Given the description of an element on the screen output the (x, y) to click on. 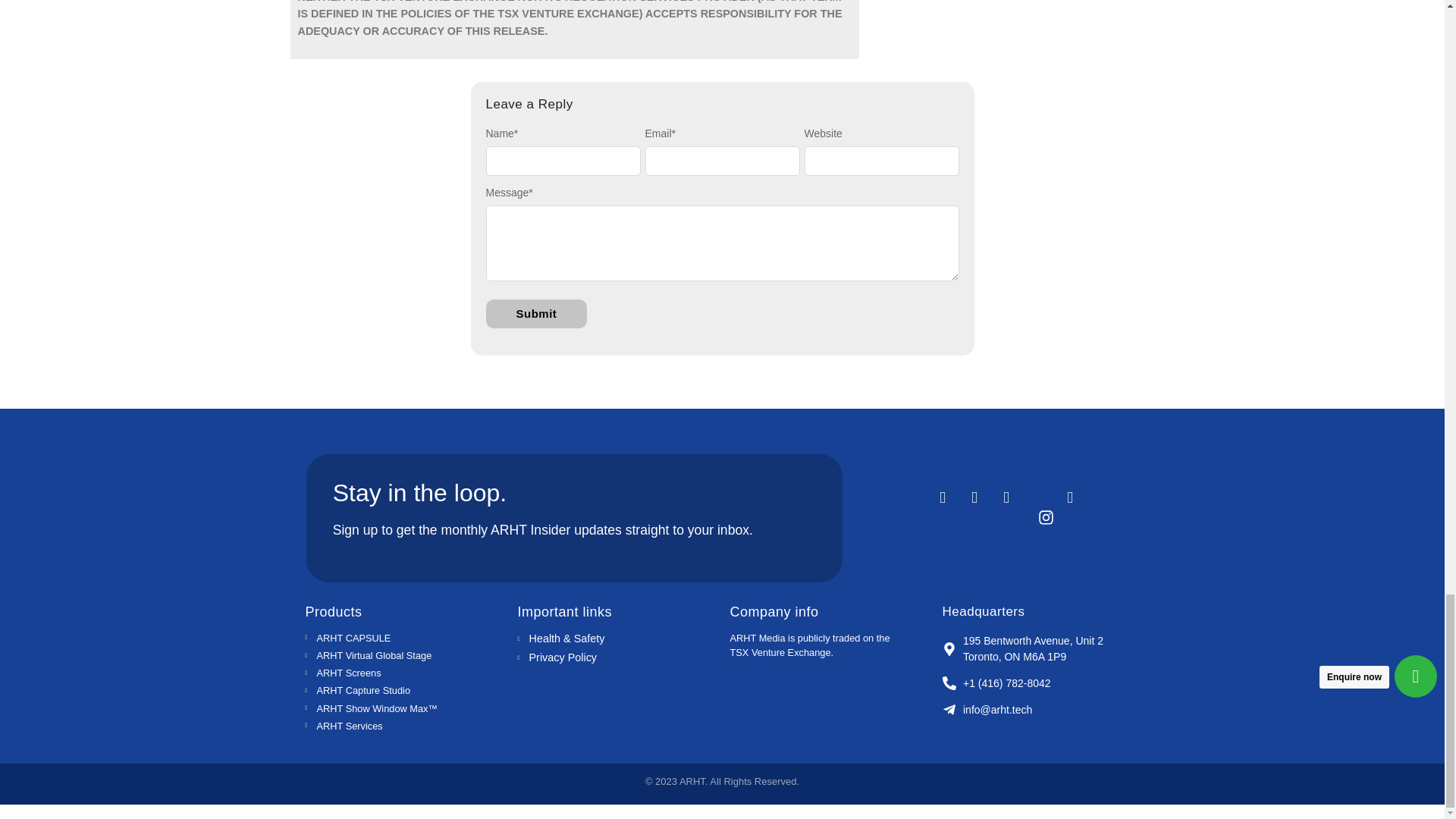
Submit (535, 314)
